Given the description of an element on the screen output the (x, y) to click on. 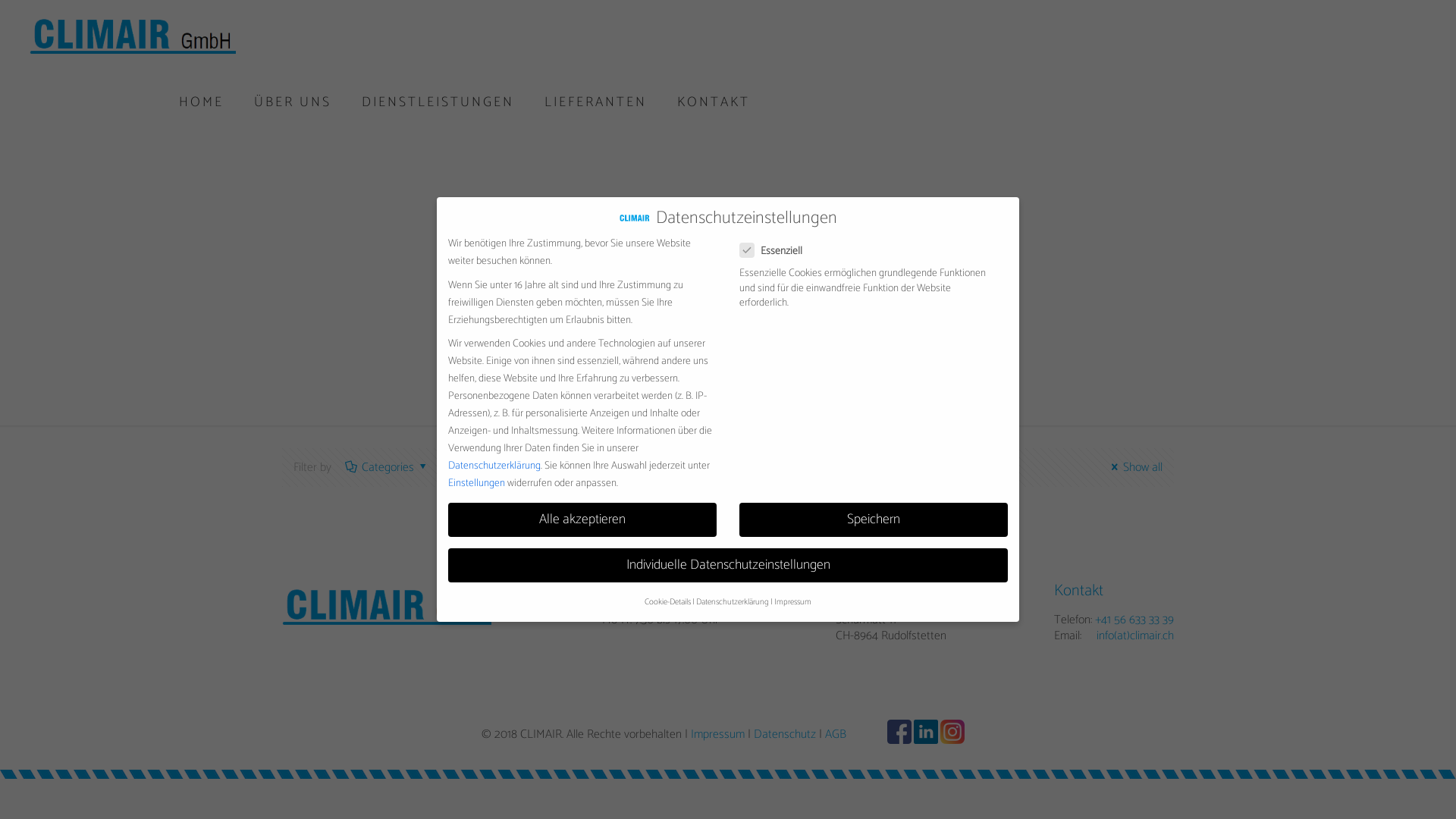
Cookie-Details Element type: text (667, 601)
KONTAKT Element type: text (713, 102)
HOME Element type: text (200, 102)
Facebook Element type: hover (895, 739)
LinkedIn Element type: hover (921, 739)
DIENSTLEISTUNGEN Element type: text (437, 102)
Impressum Element type: text (717, 733)
Impressum Element type: text (792, 601)
Einstellungen Element type: text (476, 483)
Datenschutz Element type: text (784, 733)
Individuelle Datenschutzeinstellungen Element type: text (727, 565)
+41 56 633 33 39 Element type: text (1134, 619)
info(at)climair.ch Element type: text (1134, 635)
LIEFERANTEN Element type: text (595, 102)
Instagram Element type: hover (948, 739)
Alle akzeptieren Element type: text (582, 519)
Categories Element type: text (387, 467)
Authors Element type: text (554, 467)
CLIMAIR Element type: hover (132, 34)
Speichern Element type: text (873, 519)
Tags Element type: text (476, 467)
Show all Element type: text (1134, 467)
AGB Element type: text (835, 733)
